Given the description of an element on the screen output the (x, y) to click on. 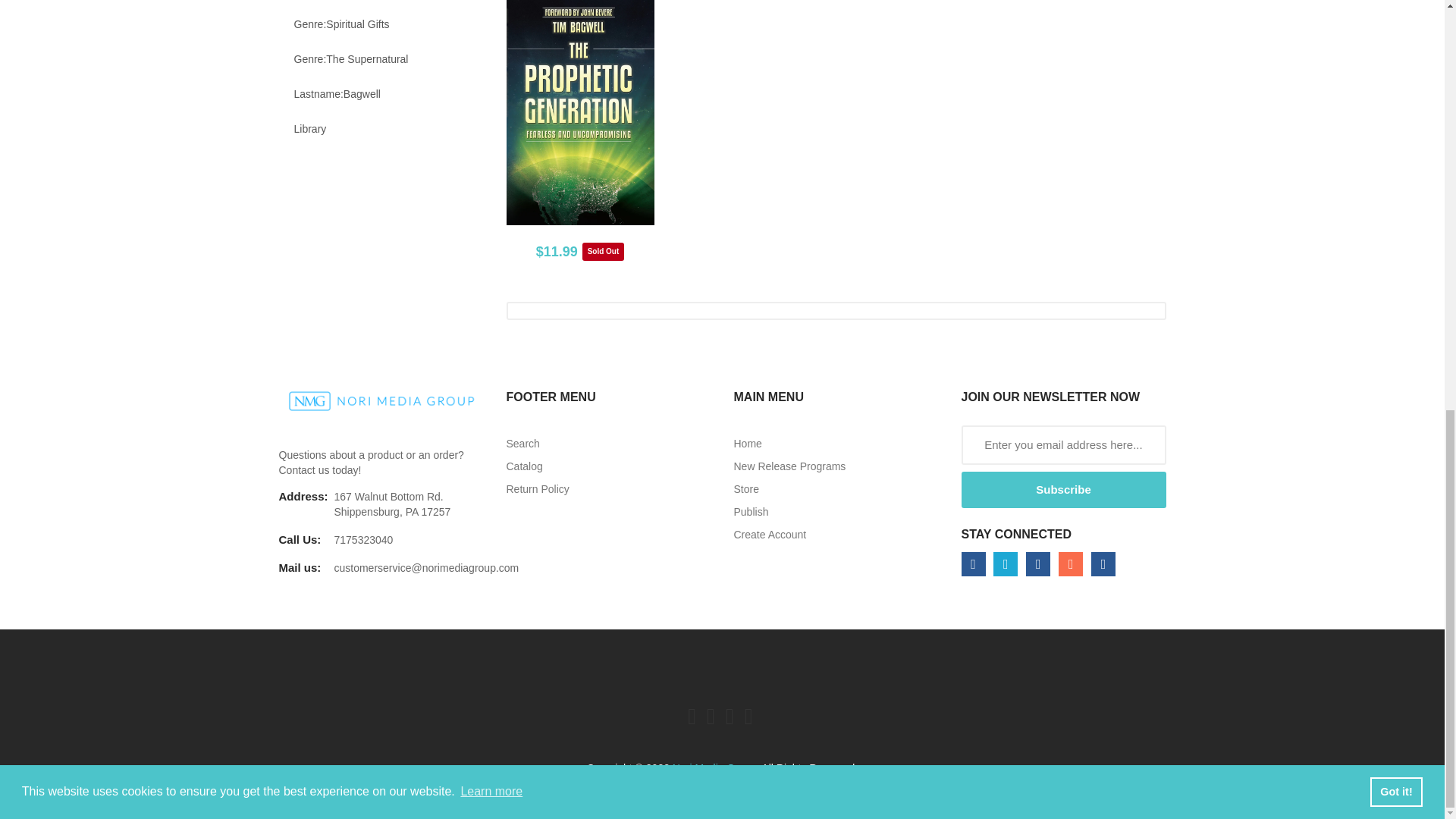
Show products matching tag author:Timothy Bagwell (381, 3)
Show products matching tag lastname:Bagwell (381, 93)
Show products matching tag genre:The Supernatural (381, 58)
Show products matching tag Library (381, 128)
Show products matching tag genre:Spiritual Gifts (381, 23)
